Given the description of an element on the screen output the (x, y) to click on. 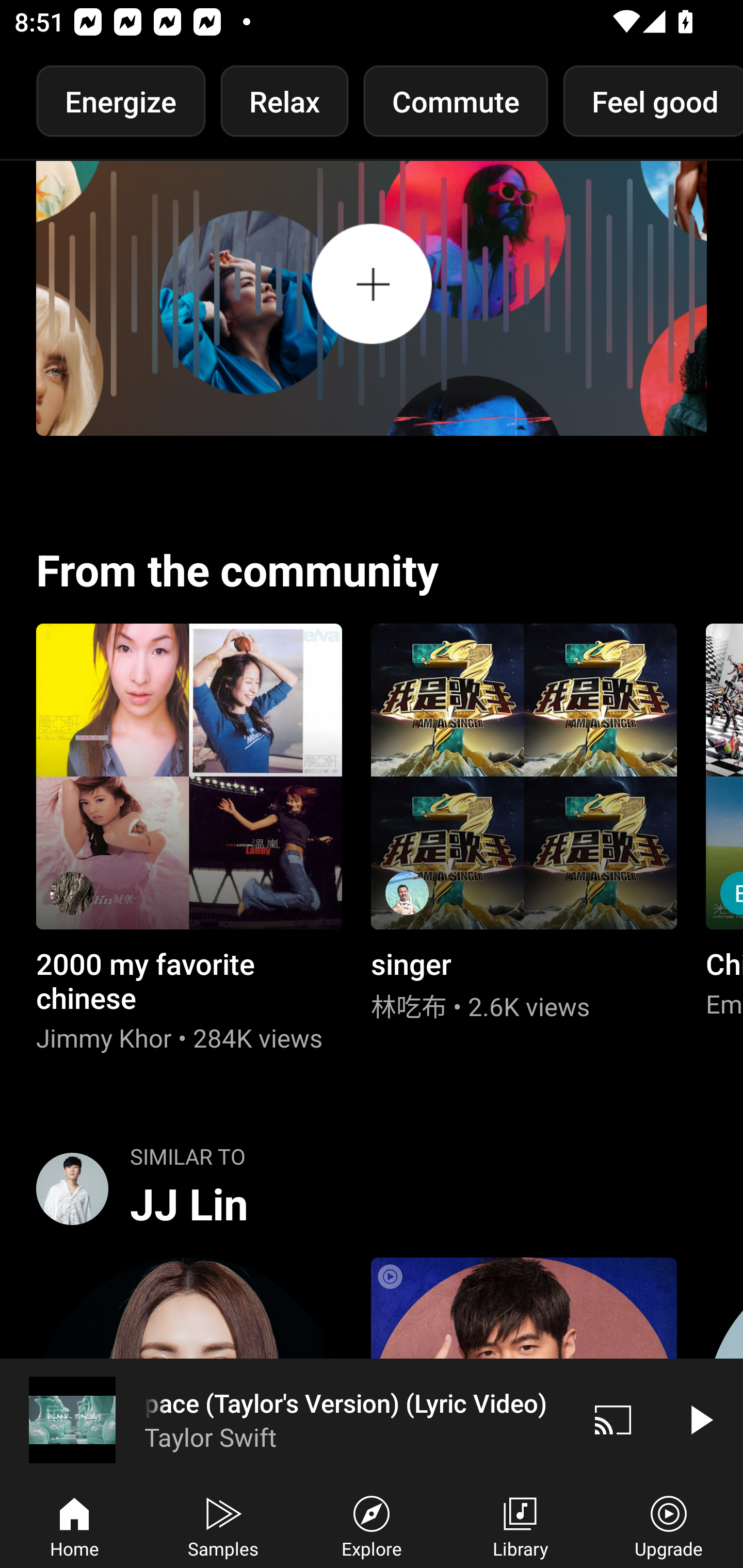
Jimmy Khor (188, 839)
林吃布 (523, 823)
Jimmy Khor (71, 893)
林吃布 (406, 893)
Cast. Disconnected (612, 1419)
Play video (699, 1419)
Home (74, 1524)
Samples (222, 1524)
Explore (371, 1524)
Library (519, 1524)
Upgrade (668, 1524)
